Given the description of an element on the screen output the (x, y) to click on. 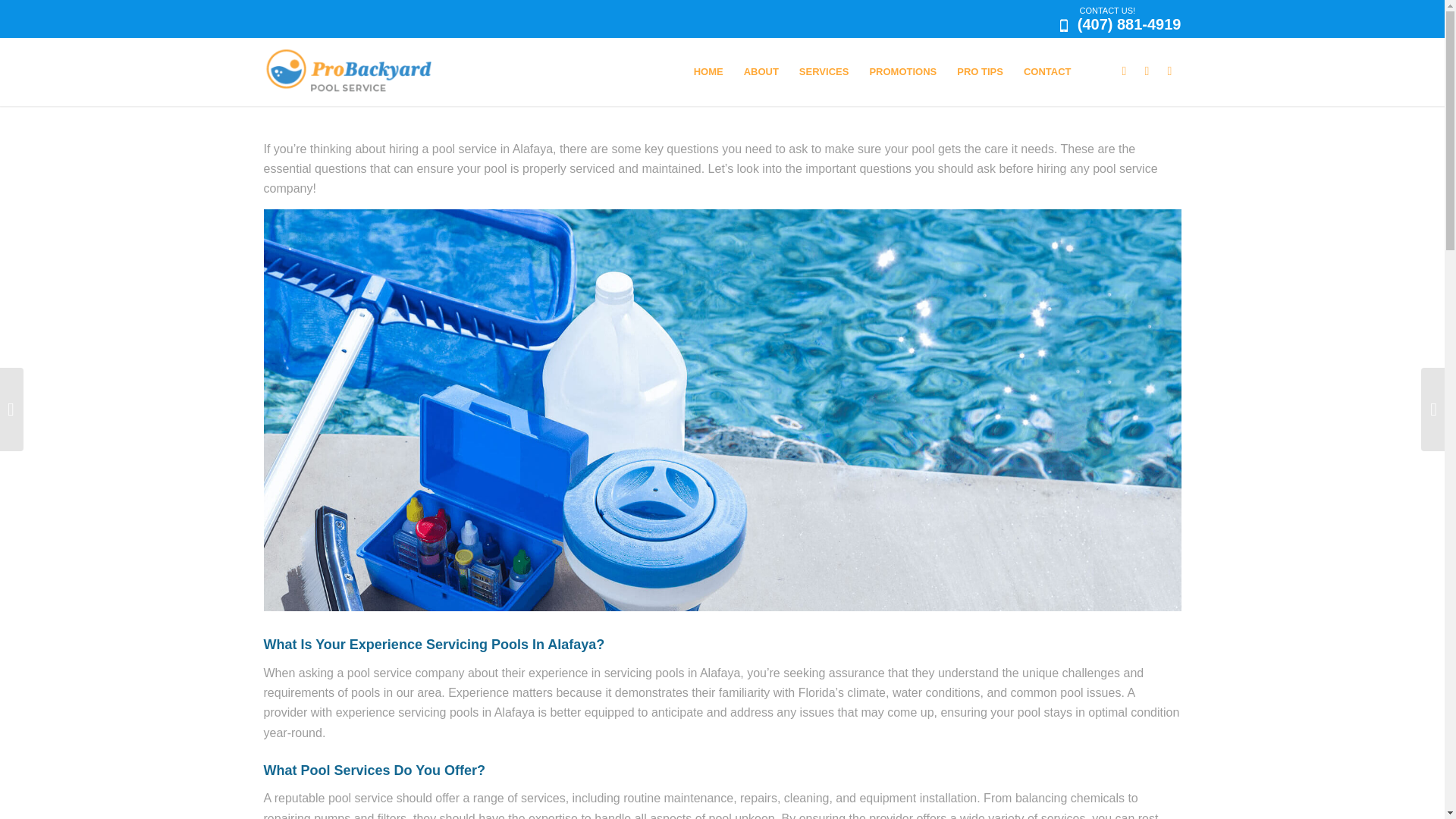
PROMOTIONS (902, 71)
CONTACT (1047, 71)
PRO TIPS (979, 71)
SERVICES (824, 71)
Instagram (1146, 69)
Facebook (1124, 69)
Mail (1169, 69)
